Given the description of an element on the screen output the (x, y) to click on. 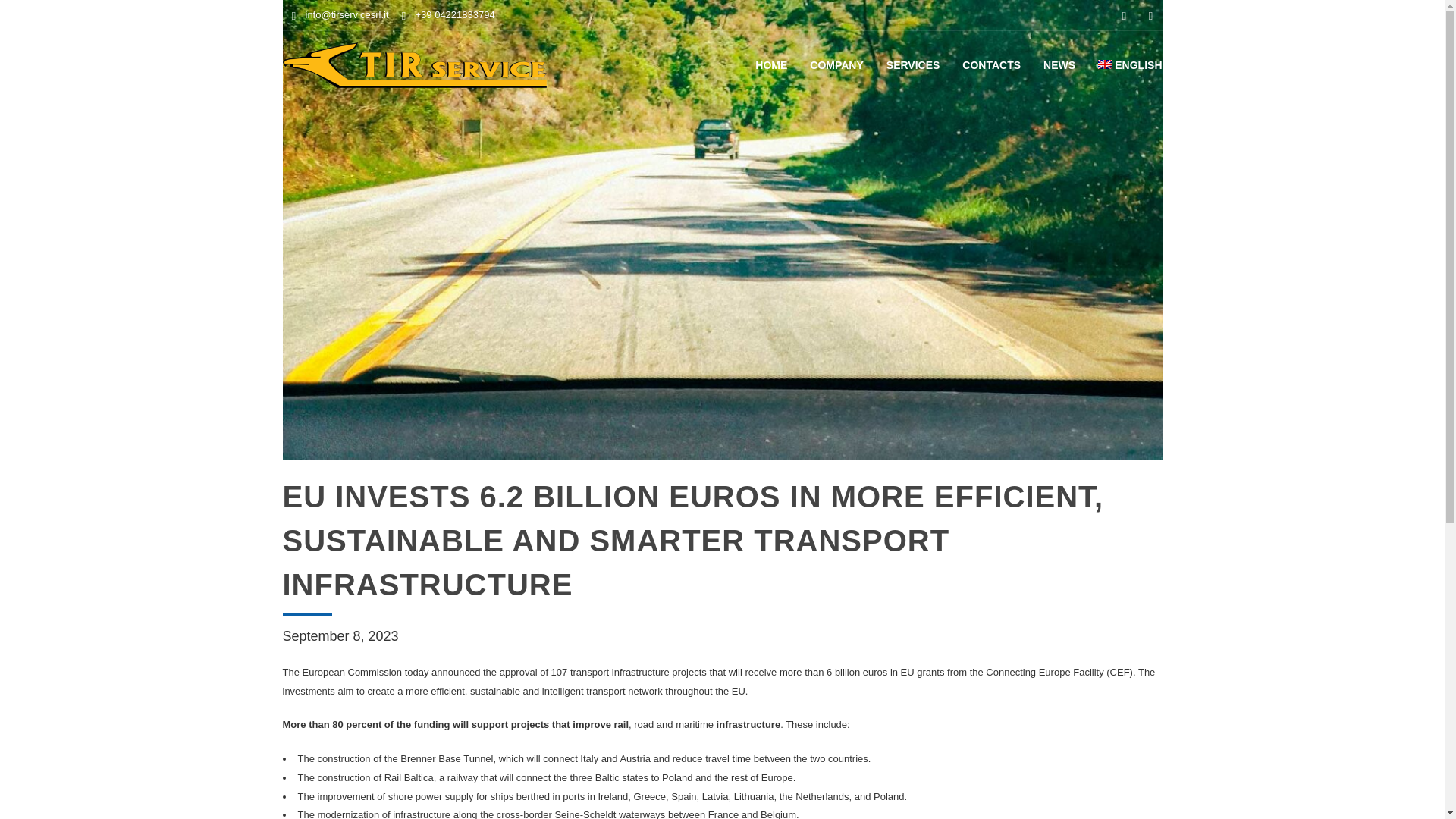
ENGLISH (1129, 64)
COMPANY (836, 64)
CONTACTS (991, 64)
English (1129, 64)
SERVICES (913, 64)
